Given the description of an element on the screen output the (x, y) to click on. 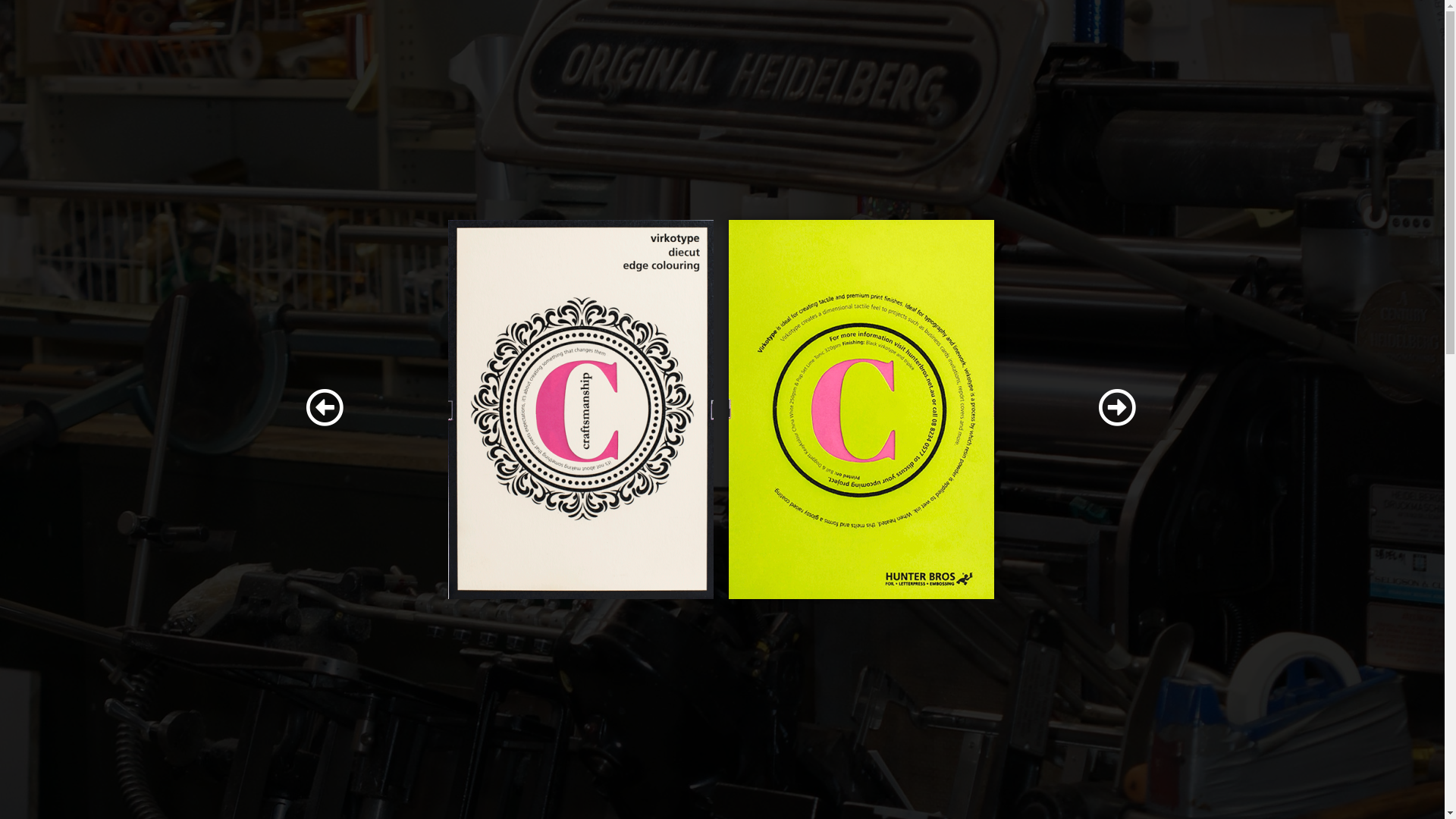
portfolio-virkotype-2 Element type: hover (861, 409)
portfolio-virkotype-1 Element type: hover (580, 409)
